Given the description of an element on the screen output the (x, y) to click on. 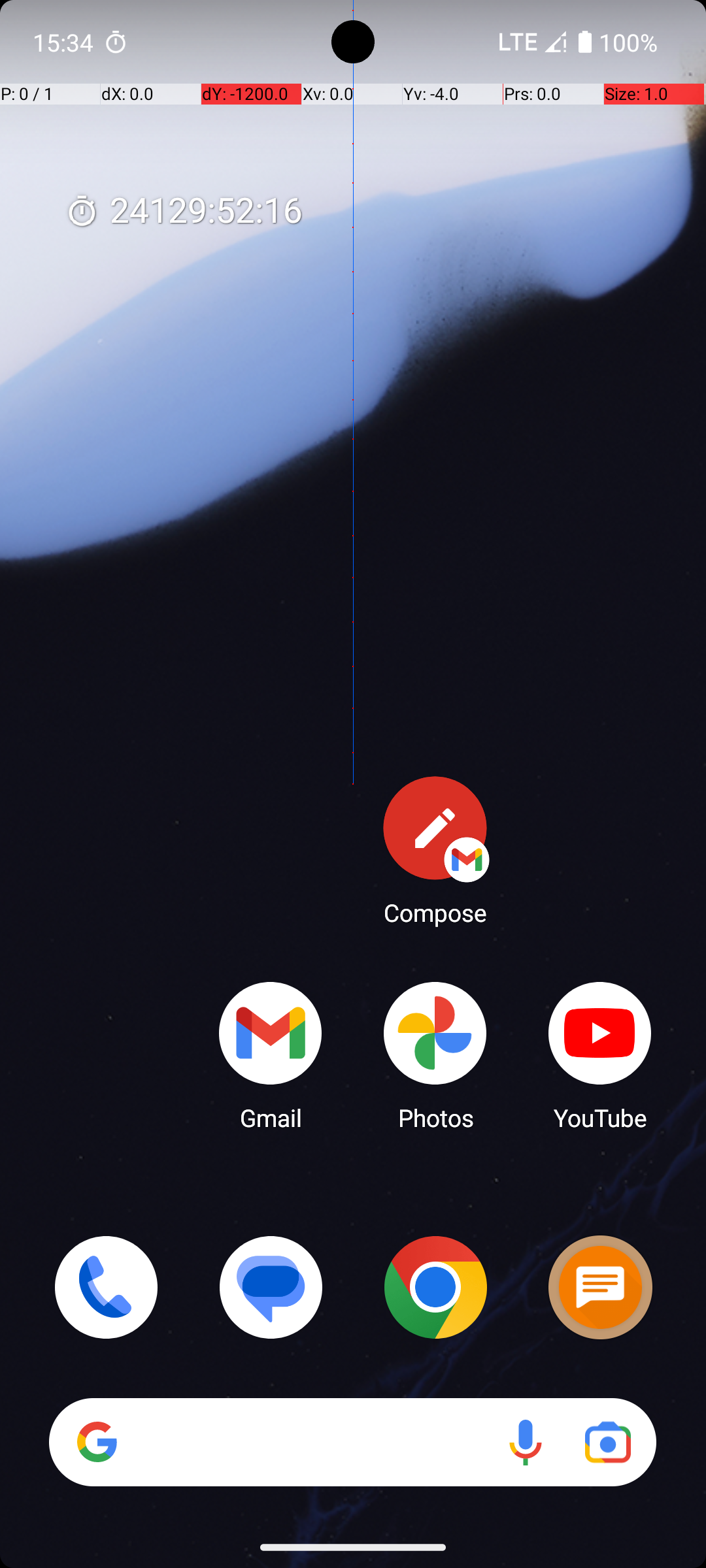
24129:52:16 Element type: android.widget.TextView (183, 210)
Compose Element type: android.widget.TextView (435, 849)
